Given the description of an element on the screen output the (x, y) to click on. 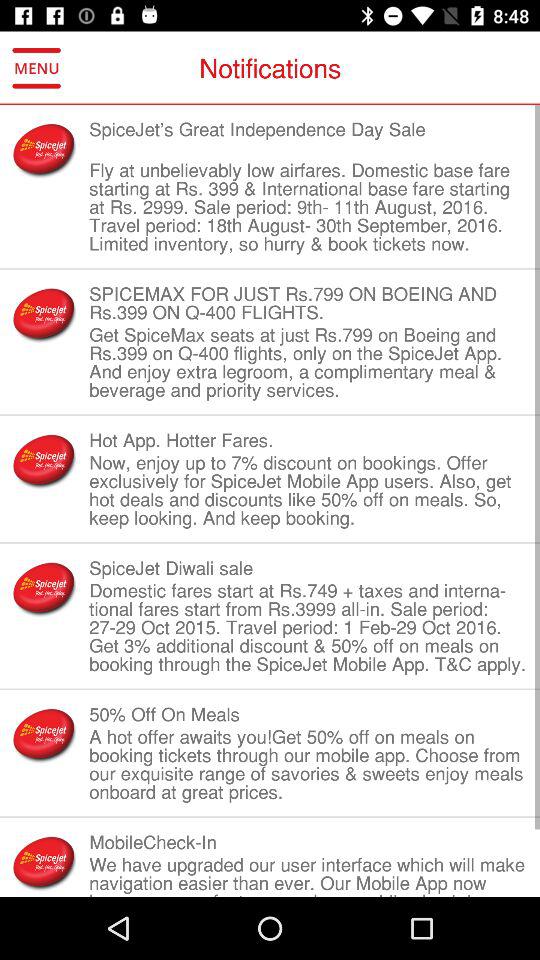
click item next to the hot app hotter (44, 460)
